Given the description of an element on the screen output the (x, y) to click on. 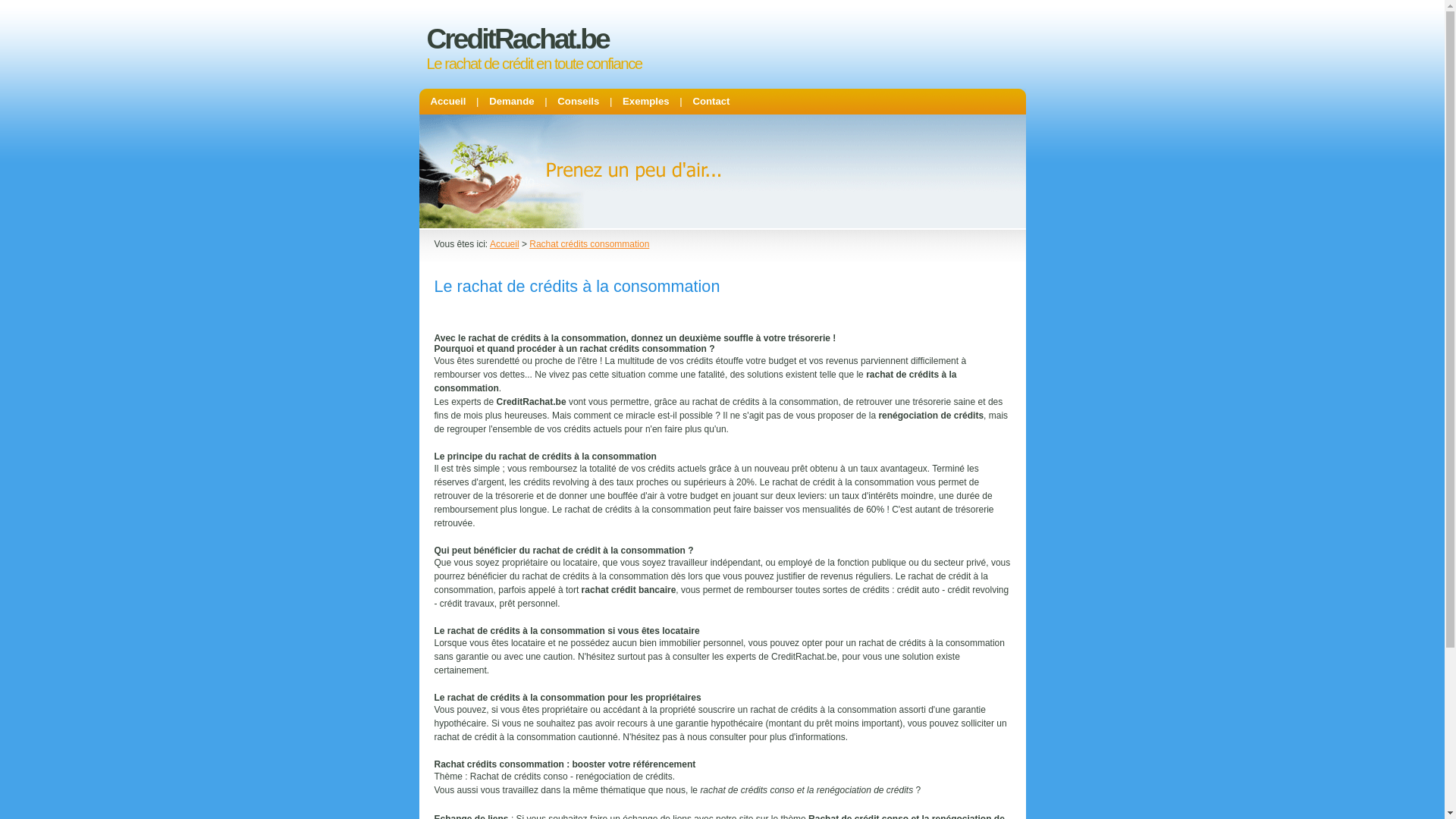
Conseils Element type: text (577, 100)
Exemples Element type: text (646, 100)
Contact Element type: text (710, 100)
Demande Element type: text (511, 100)
Accueil Element type: text (448, 100)
Accueil Element type: text (504, 243)
